Given the description of an element on the screen output the (x, y) to click on. 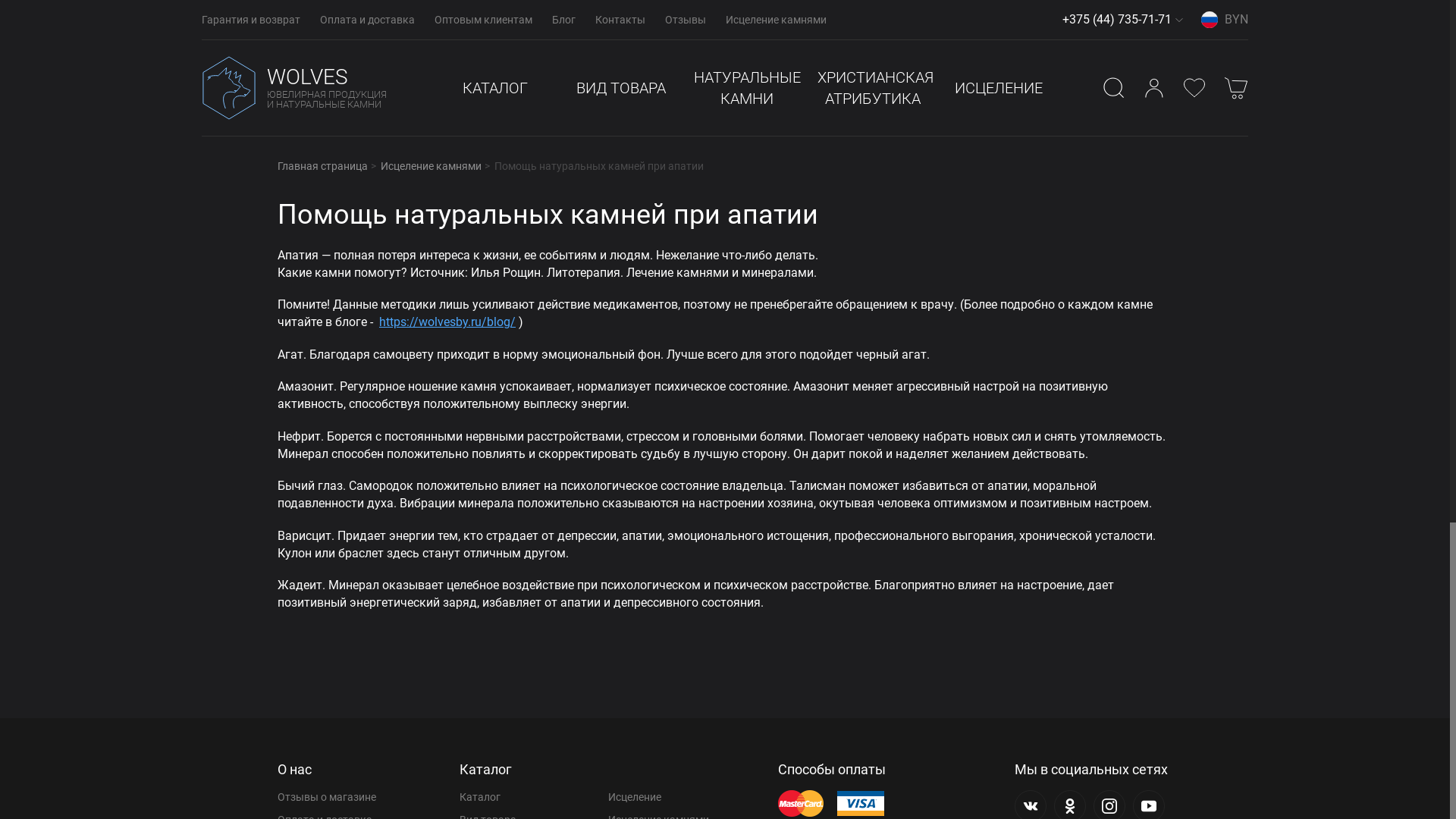
Show phones Element type: text (1179, 19)
BYN Element type: text (1224, 19)
https://wolvesby.ru/blog/ Element type: text (447, 321)
+375 (44) 735-71-71 Element type: text (1116, 19)
